Given the description of an element on the screen output the (x, y) to click on. 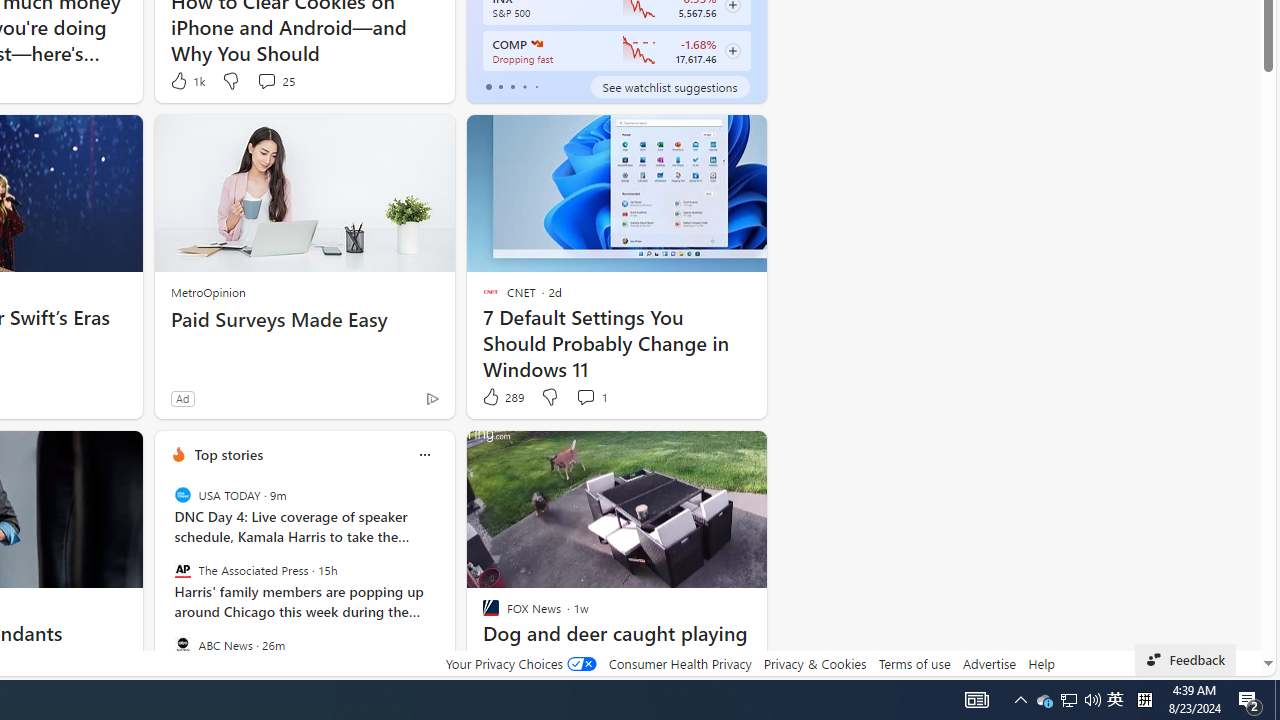
previous (164, 583)
See watchlist suggestions (669, 86)
The Associated Press (182, 570)
tab-4 (535, 86)
tab-2 (511, 86)
